Given the description of an element on the screen output the (x, y) to click on. 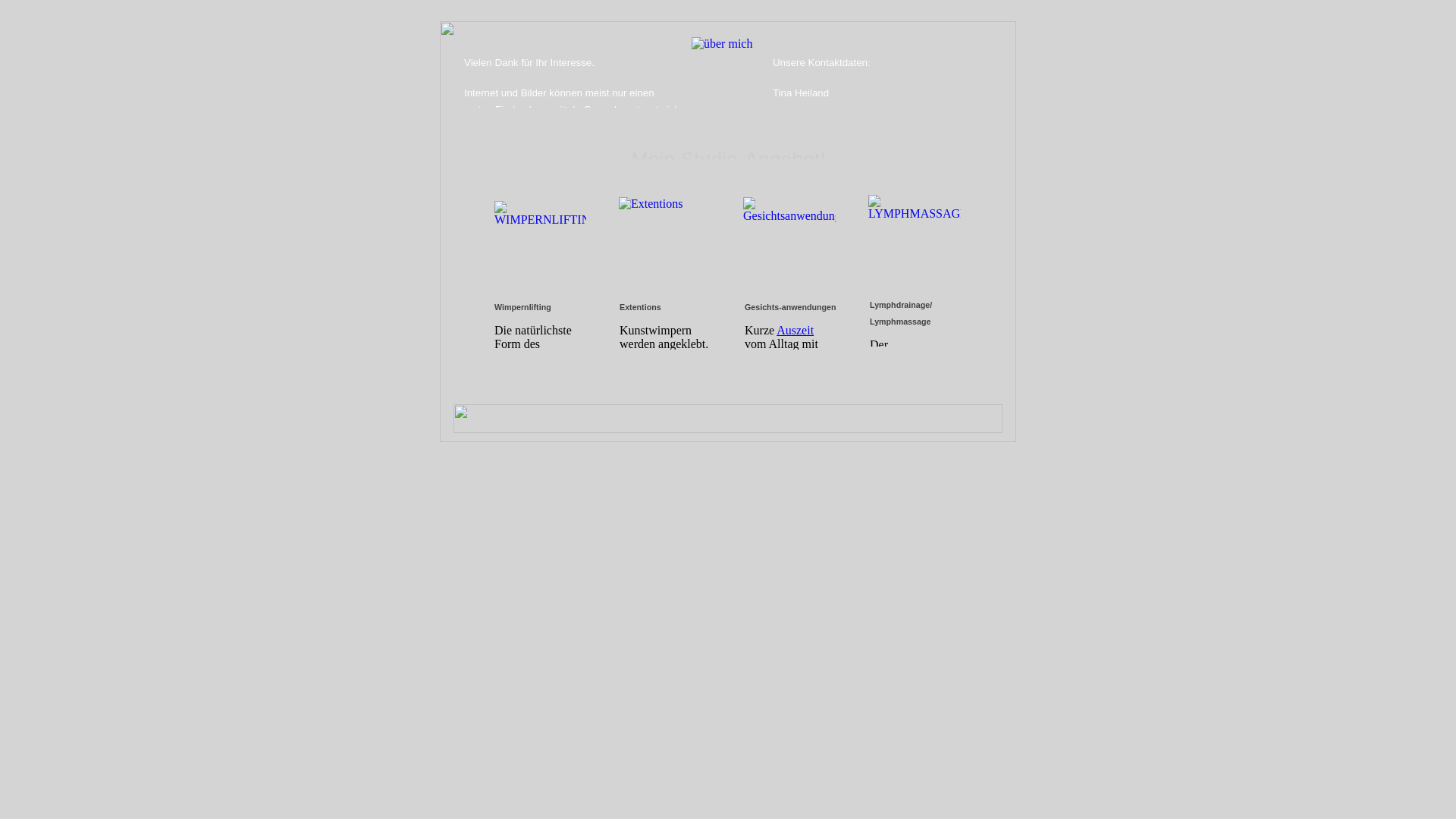
Auszeit Element type: text (794, 329)
